Given the description of an element on the screen output the (x, y) to click on. 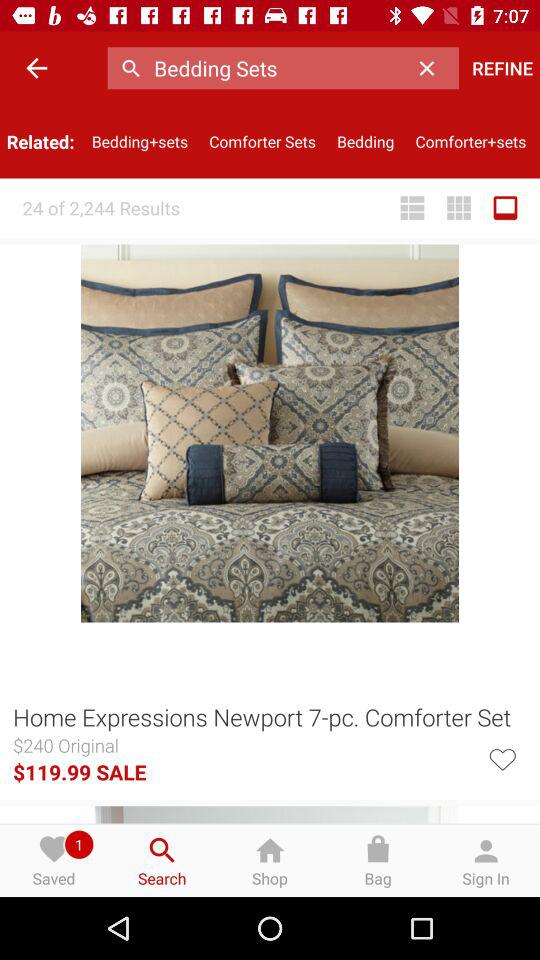
turn off the item below comforter+sets icon (505, 208)
